Given the description of an element on the screen output the (x, y) to click on. 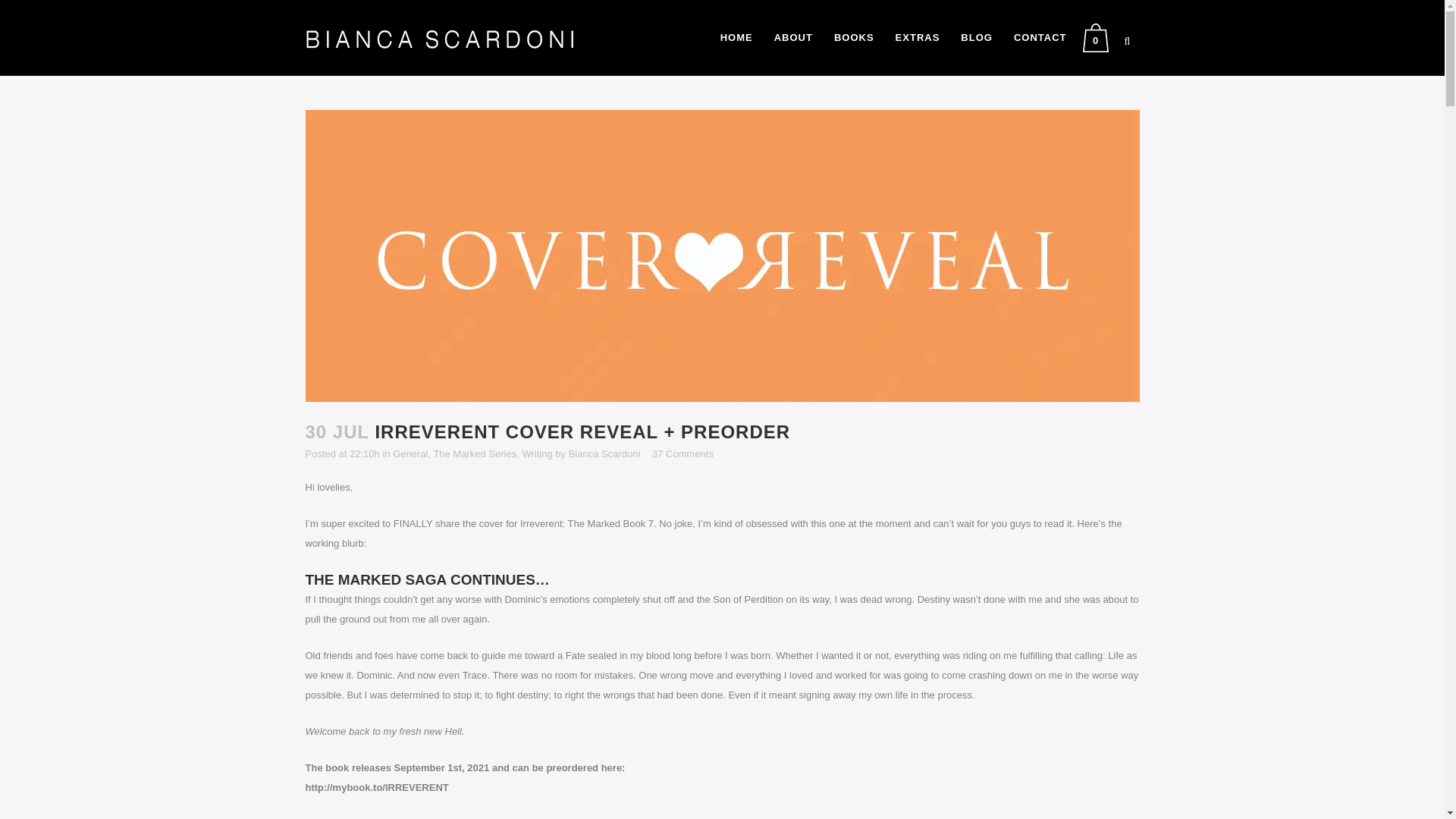
General (410, 453)
HOME (736, 38)
Writing (536, 453)
BLOG (976, 38)
EXTRAS (917, 38)
37 Comments (682, 453)
BOOKS (854, 38)
ABOUT (793, 38)
CONTACT (1040, 38)
The Marked Series (474, 453)
0 (1099, 37)
